Given the description of an element on the screen output the (x, y) to click on. 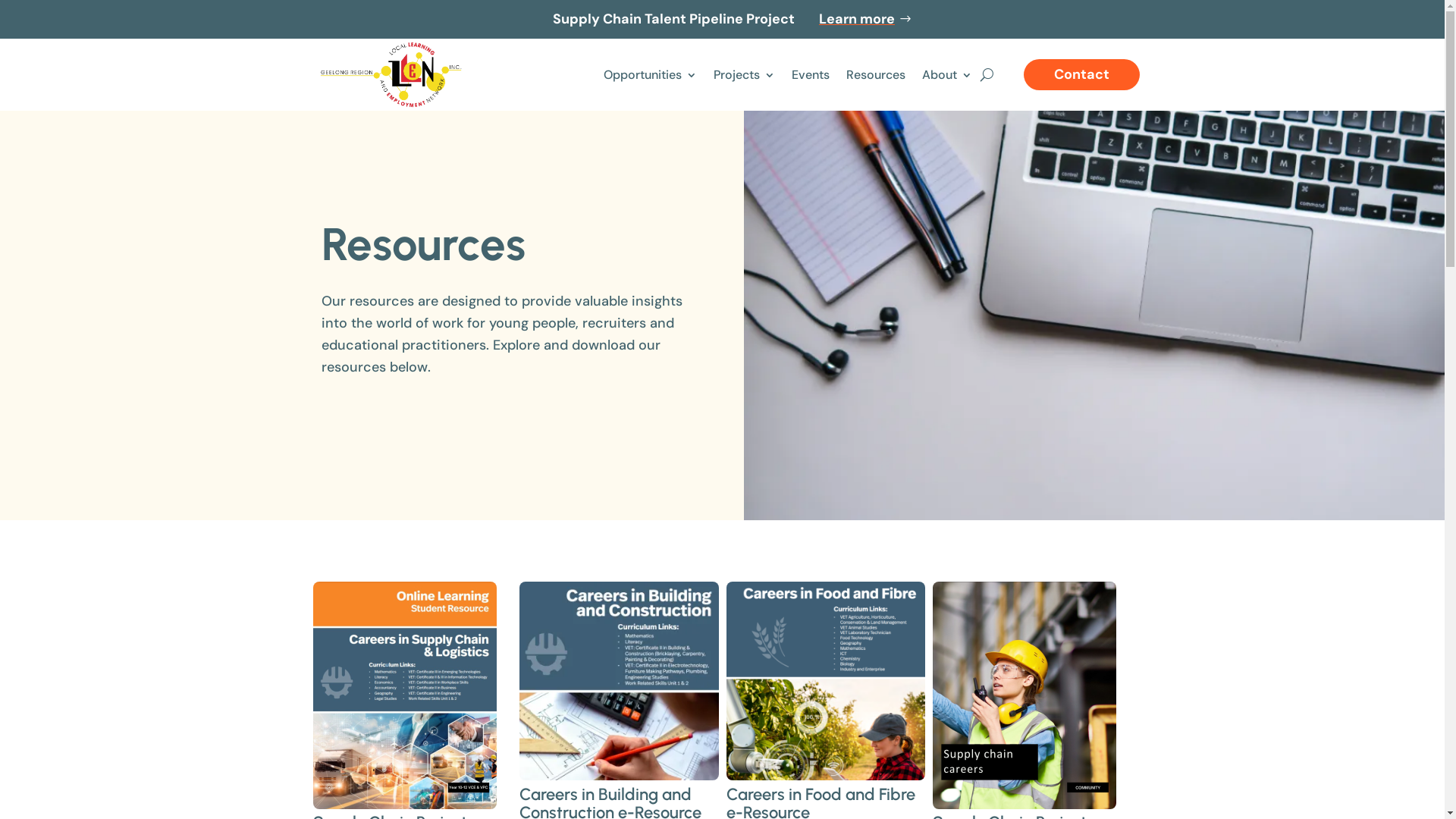
Contact Element type: text (1081, 74)
Resources Element type: text (875, 73)
Projects Element type: text (743, 73)
Opportunities Element type: text (649, 73)
Events Element type: text (810, 73)
About Element type: text (947, 73)
Learn more Element type: text (856, 18)
